Given the description of an element on the screen output the (x, y) to click on. 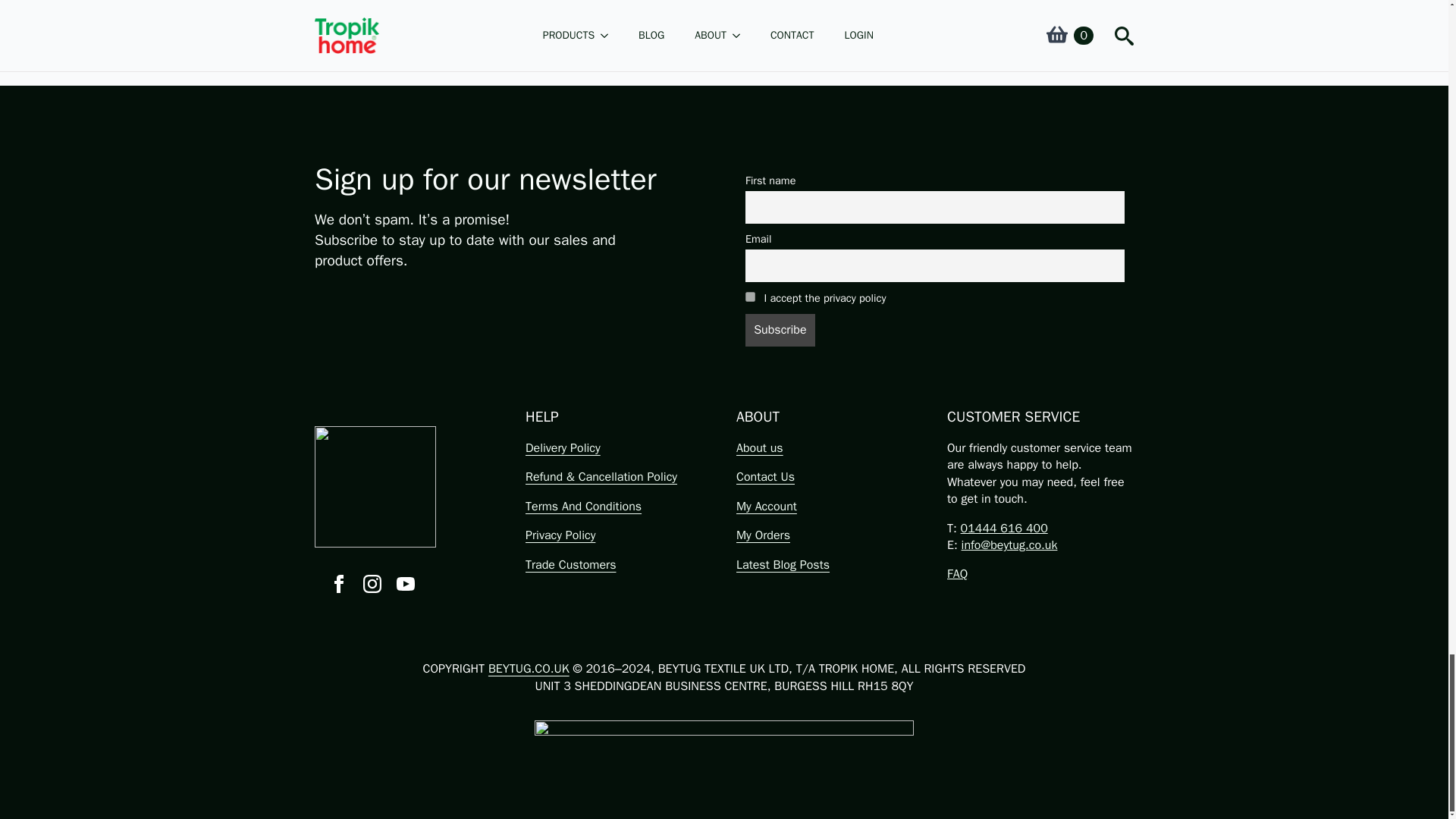
Subscribe (780, 329)
on (750, 296)
